Given the description of an element on the screen output the (x, y) to click on. 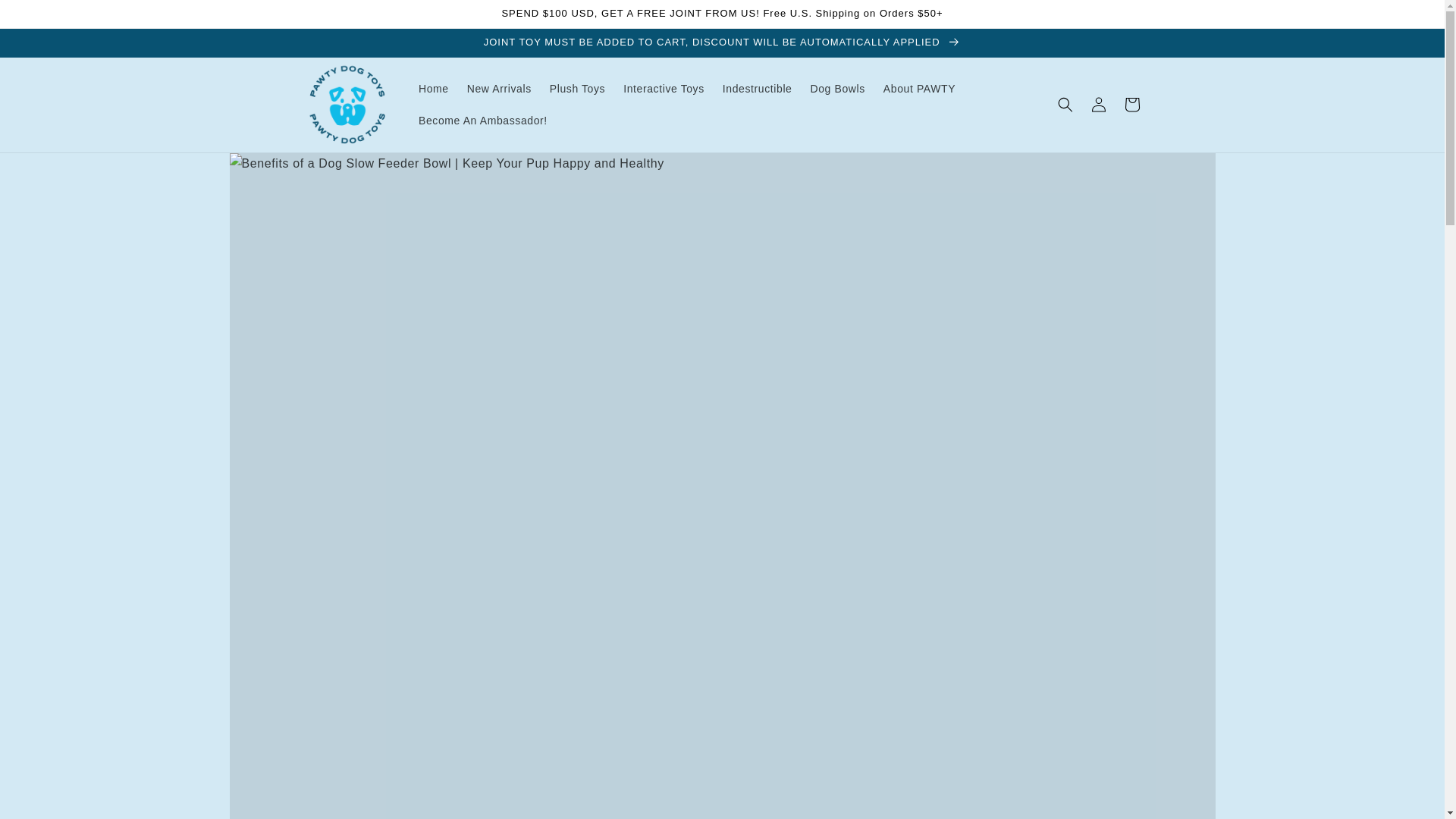
Indestructible (757, 88)
Become An Ambassador! (482, 120)
New Arrivals (499, 88)
Home (433, 88)
Interactive Toys (663, 88)
About PAWTY (919, 88)
Skip to content (45, 17)
Cart (1131, 104)
Plush Toys (577, 88)
Dog Bowls (836, 88)
Log in (1098, 104)
